Given the description of an element on the screen output the (x, y) to click on. 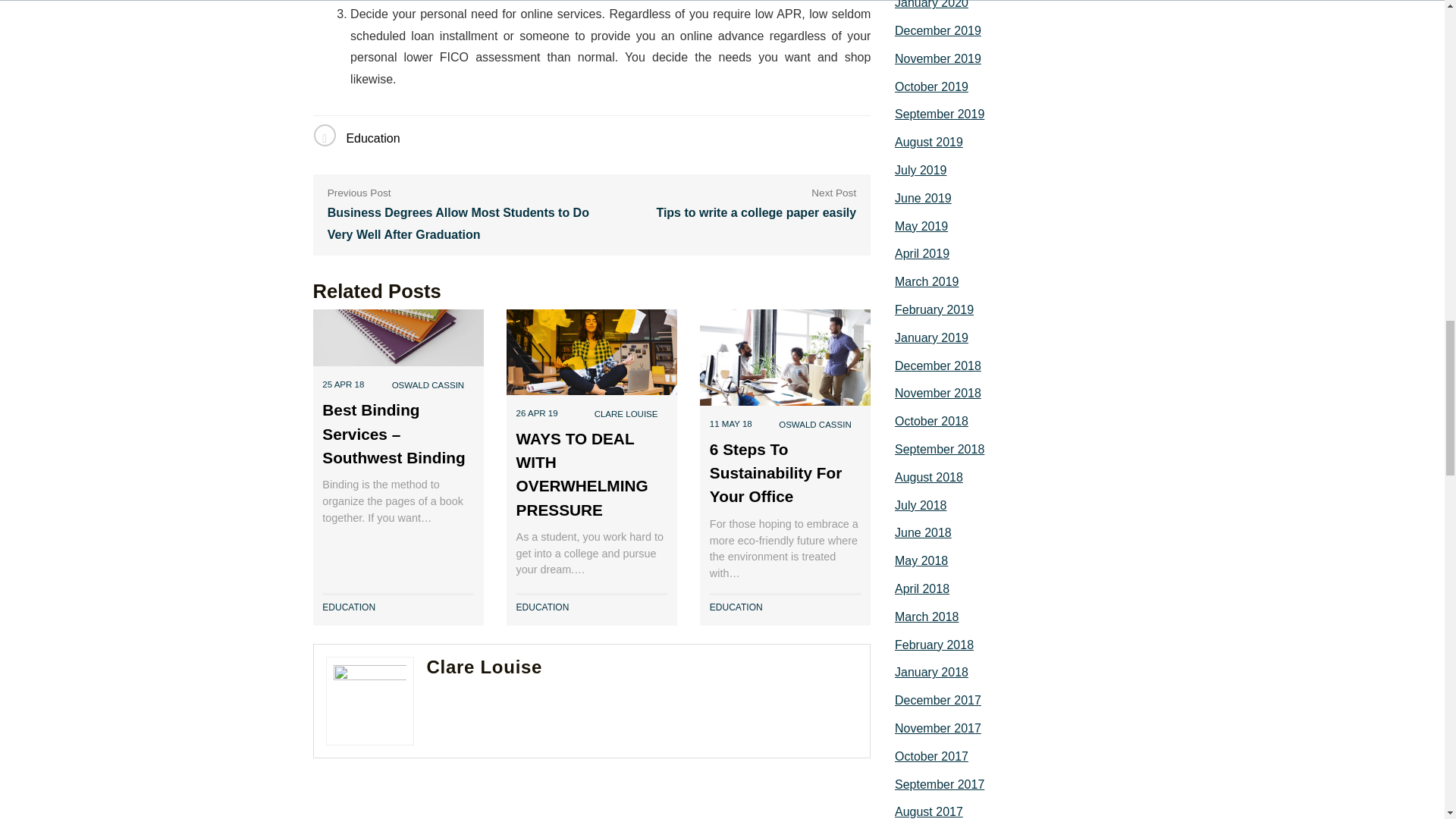
EDUCATION (736, 606)
25 APR 18 (342, 384)
OSWALD CASSIN (814, 424)
WAYS TO DEAL WITH OVERWHELMING PRESSURE (581, 473)
CLARE LOUISE (626, 413)
Education (372, 137)
OSWALD CASSIN (427, 384)
11 MAY 18 (731, 424)
Tips to write a college paper easily (756, 213)
